Given the description of an element on the screen output the (x, y) to click on. 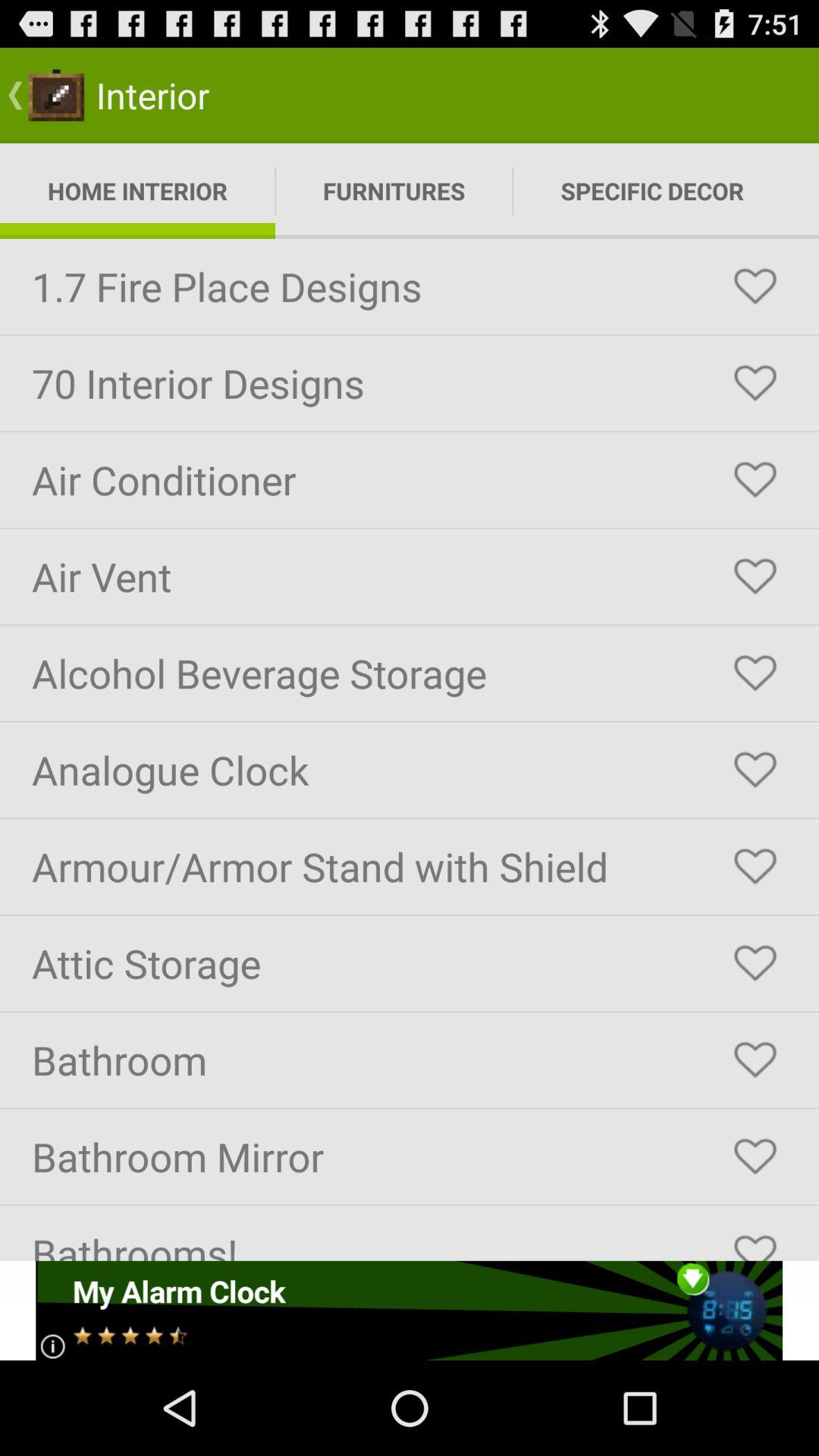
favorite this item (755, 963)
